Given the description of an element on the screen output the (x, y) to click on. 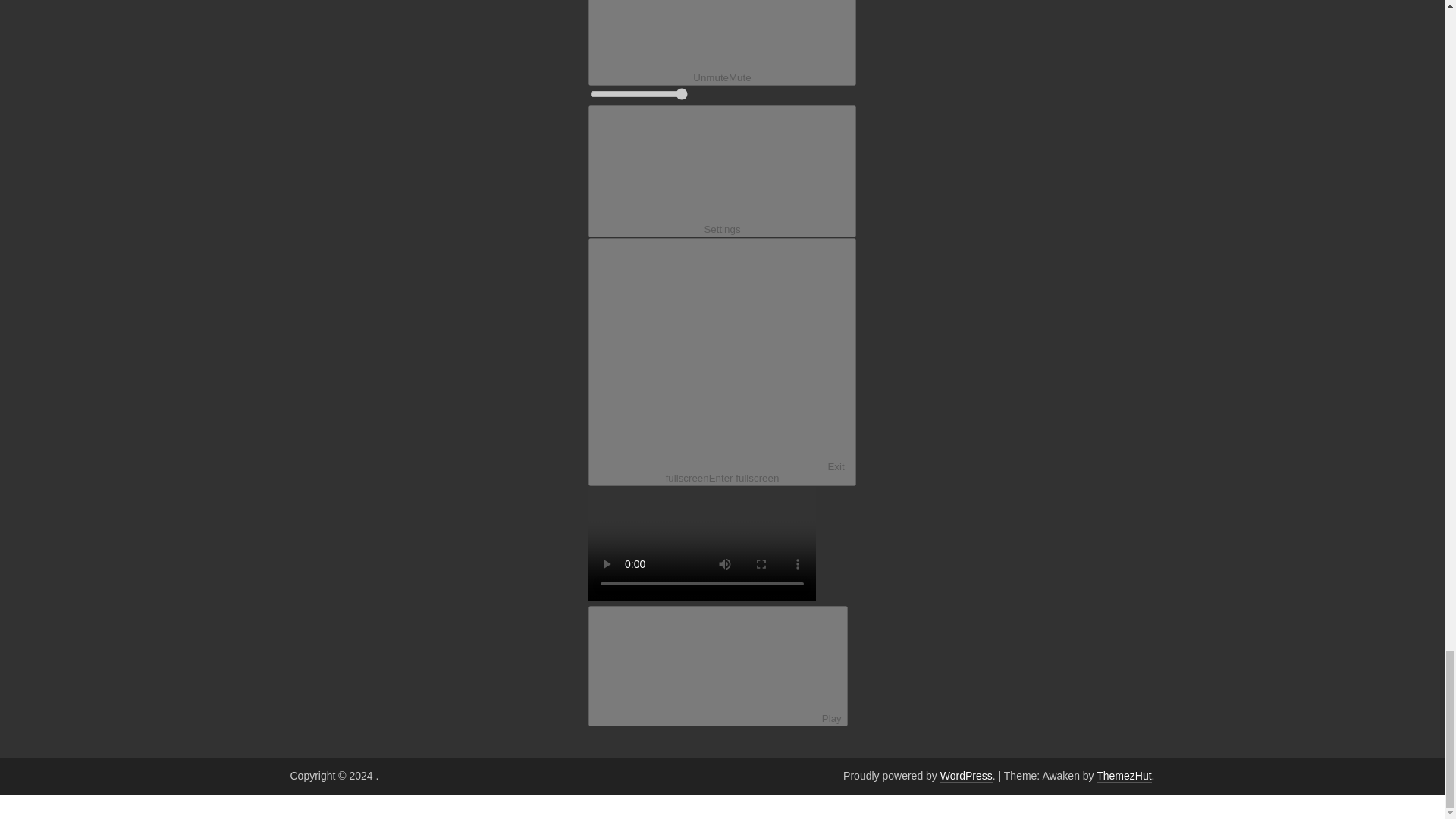
WordPress (966, 775)
